Given the description of an element on the screen output the (x, y) to click on. 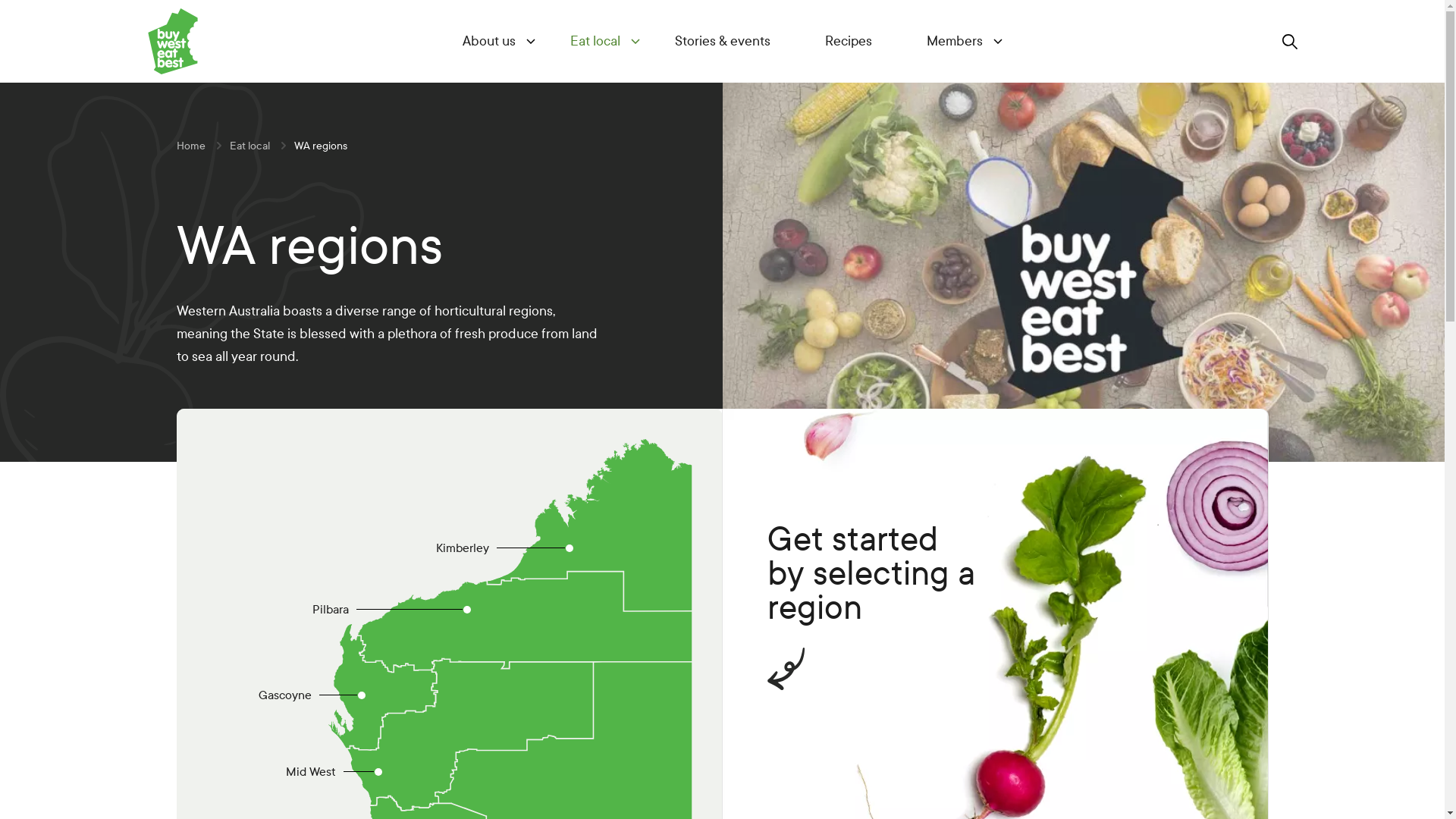
Members Element type: text (954, 40)
Skip to Content Element type: text (6, 6)
Eat local Element type: text (249, 145)
About us Element type: text (488, 40)
Mid West Element type: text (377, 770)
Stories & events Element type: text (722, 40)
Eat local Element type: text (594, 40)
Gascoyne Element type: text (361, 695)
Kimberley Element type: text (568, 548)
Link to Buy West Eat Best Homepage Element type: text (165, 41)
Recipes Element type: text (848, 40)
Home Element type: text (189, 145)
Pilbara Element type: text (466, 609)
